Given the description of an element on the screen output the (x, y) to click on. 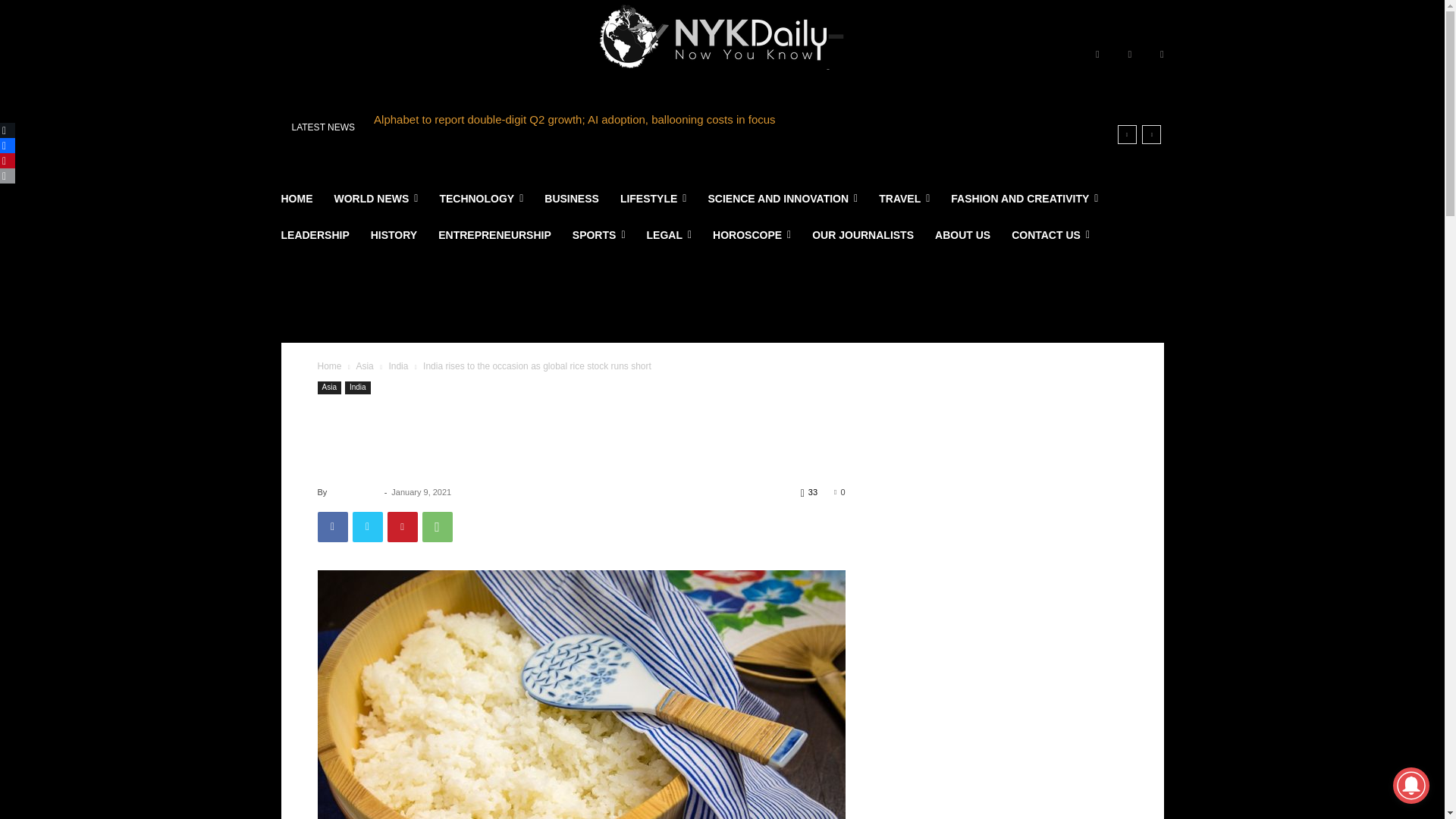
Twitter (1162, 54)
Instagram (1130, 54)
Facebook (1096, 54)
